Given the description of an element on the screen output the (x, y) to click on. 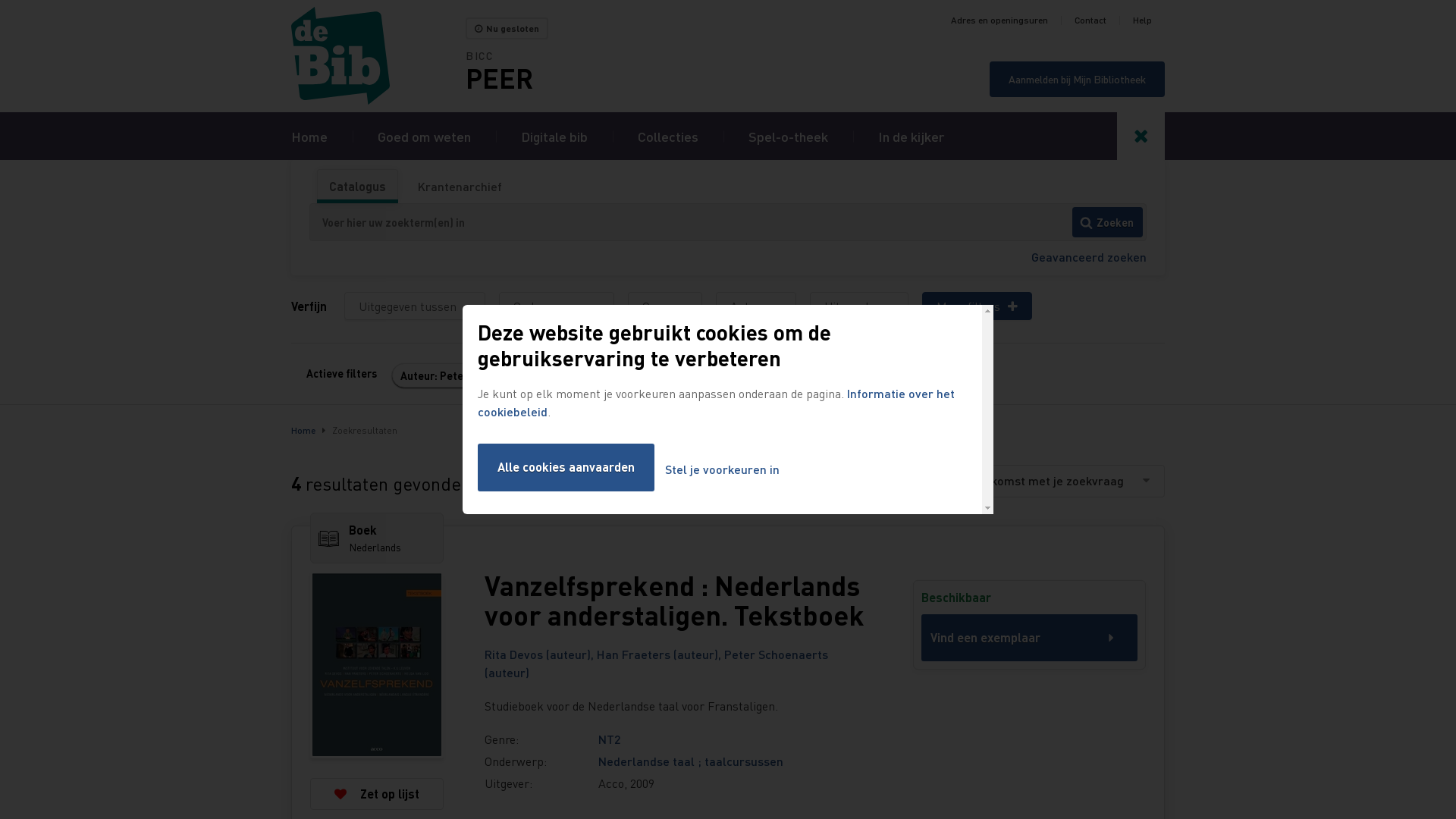
Spel-o-theek Element type: text (788, 136)
Nederlandse taal ; taalcursussen Element type: text (690, 760)
Rita Devos (auteur), Element type: text (540, 654)
Digitale bib Element type: text (553, 136)
Collecties Element type: text (667, 136)
Vind een exemplaar Element type: text (1029, 637)
Zoeken Element type: text (1107, 222)
Toggle search Element type: hover (1140, 136)
Catalogus Element type: text (357, 186)
Vanzelfsprekend : Nederlands voor anderstaligen. Tekstboek Element type: text (676, 600)
NT2 Element type: text (609, 738)
Overslaan en naar zoeken gaan Element type: text (0, 0)
Adres en openingsuren Element type: text (999, 20)
Han Fraeters (auteur), Element type: text (660, 654)
In de kijker Element type: text (911, 136)
Help Element type: text (1141, 20)
Geavanceerd zoeken Element type: text (1088, 256)
Peter Schoenaerts (auteur) Element type: text (656, 663)
Alle cookies aanvaarden Element type: text (565, 466)
Home Element type: hover (378, 55)
Informatie over het cookiebeleid Element type: text (715, 402)
Goed om weten Element type: text (423, 136)
Alle filters wissen Element type: text (612, 375)
Aanmelden bij Mijn Bibliotheek Element type: text (1076, 79)
Stel je voorkeuren in Element type: text (722, 469)
Nu gesloten Element type: text (506, 28)
Overeenkomst met je zoekvraag Element type: text (1050, 480)
Home Element type: text (309, 136)
Krantenarchief Element type: text (459, 186)
Contact Element type: text (1090, 20)
Zet op lijst Element type: text (376, 793)
Home Element type: text (303, 430)
